Given the description of an element on the screen output the (x, y) to click on. 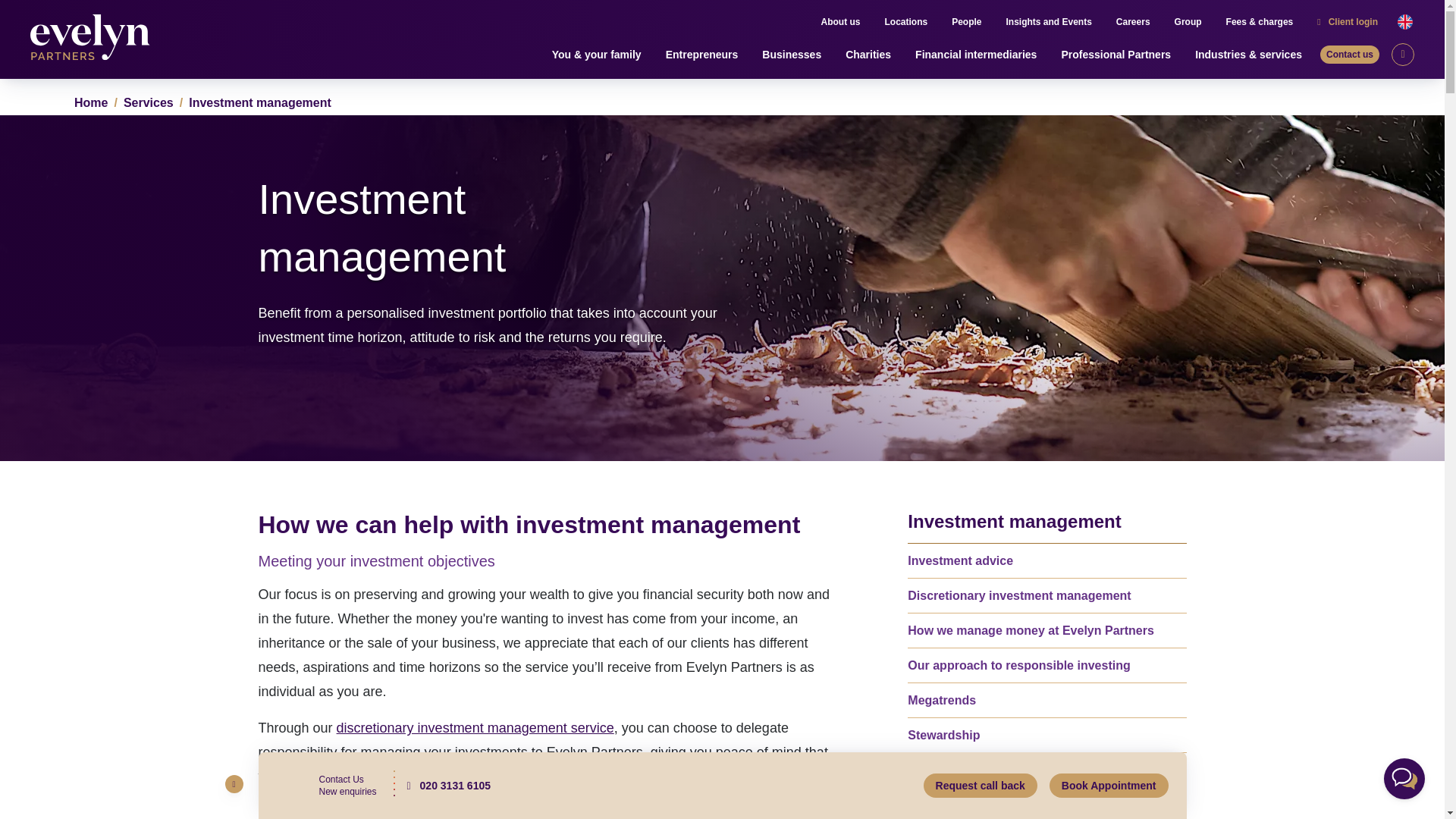
Locations (905, 22)
Group (1188, 22)
Businesses (791, 54)
Client login (1347, 22)
Insights and Events (1047, 22)
People (965, 22)
About us (839, 22)
Careers (1132, 22)
Entrepreneurs (701, 54)
Evelyn (93, 38)
